Given the description of an element on the screen output the (x, y) to click on. 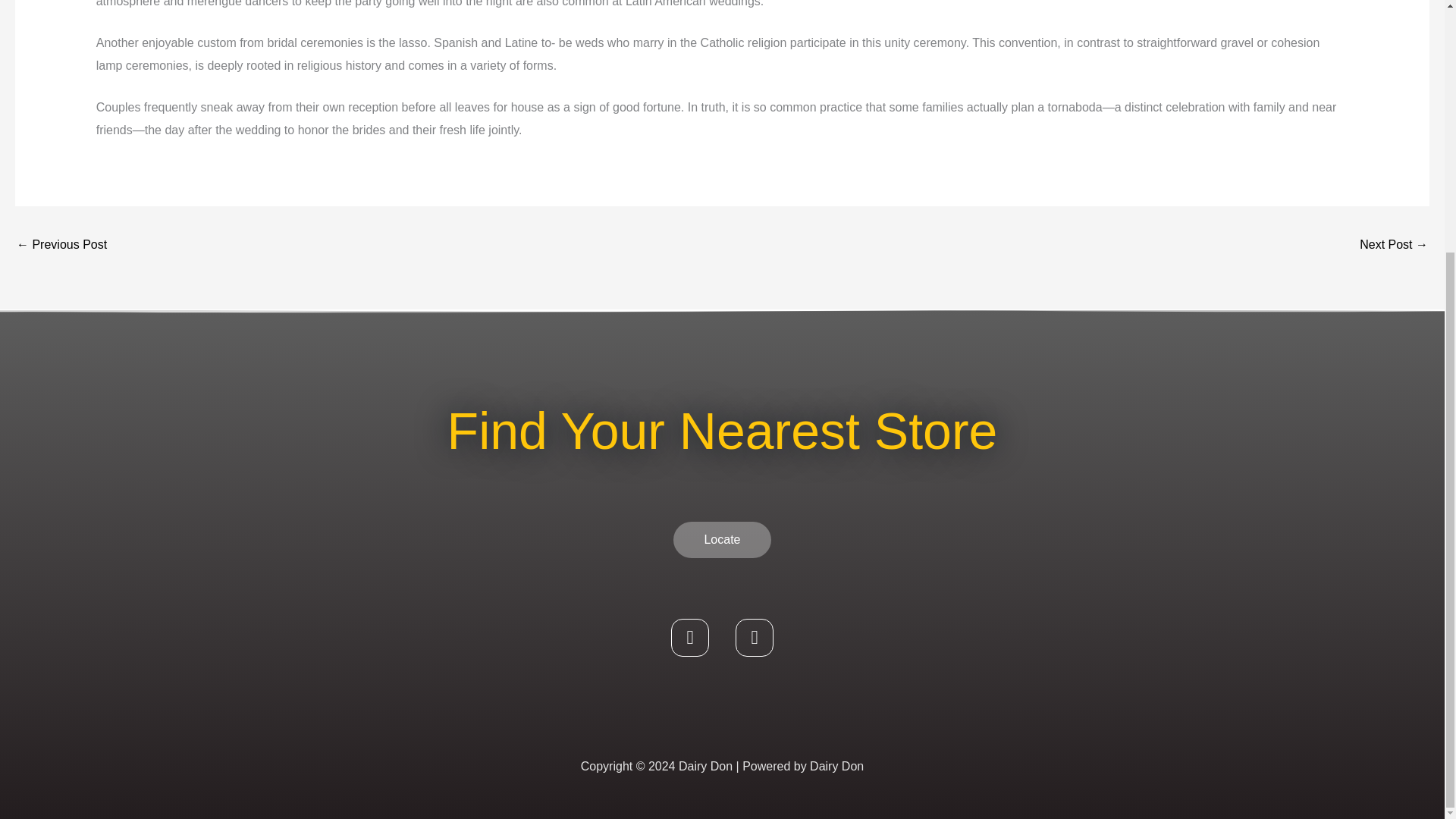
Instagram (754, 637)
Locate (721, 539)
Facebook (690, 637)
The Best Foremost Date Concepts For Everyone (61, 245)
How to Persuade a Girl to Reply to My Online Dating (1393, 245)
